Given the description of an element on the screen output the (x, y) to click on. 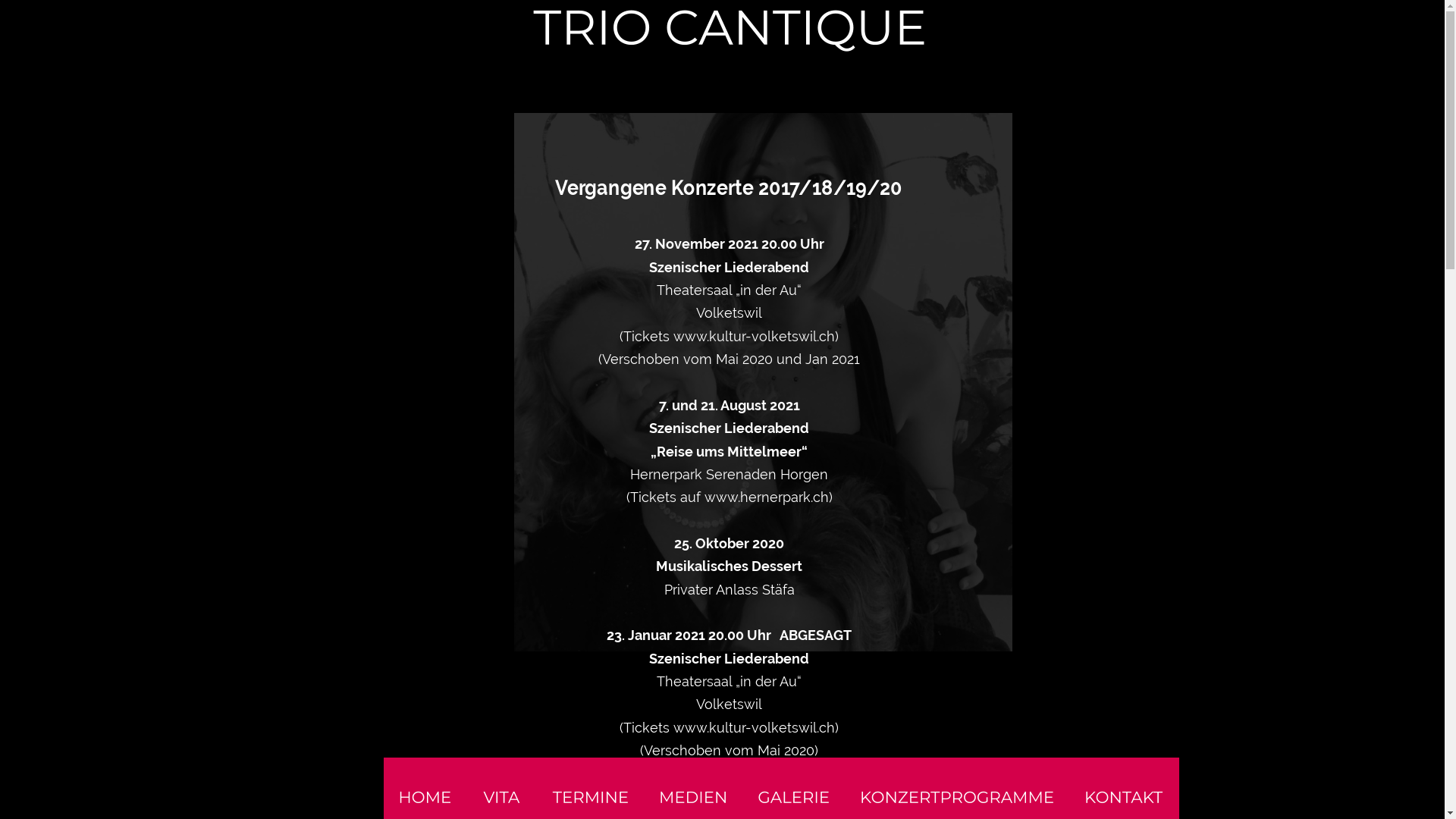
www.hernerpark.ch) Element type: text (768, 497)
